Given the description of an element on the screen output the (x, y) to click on. 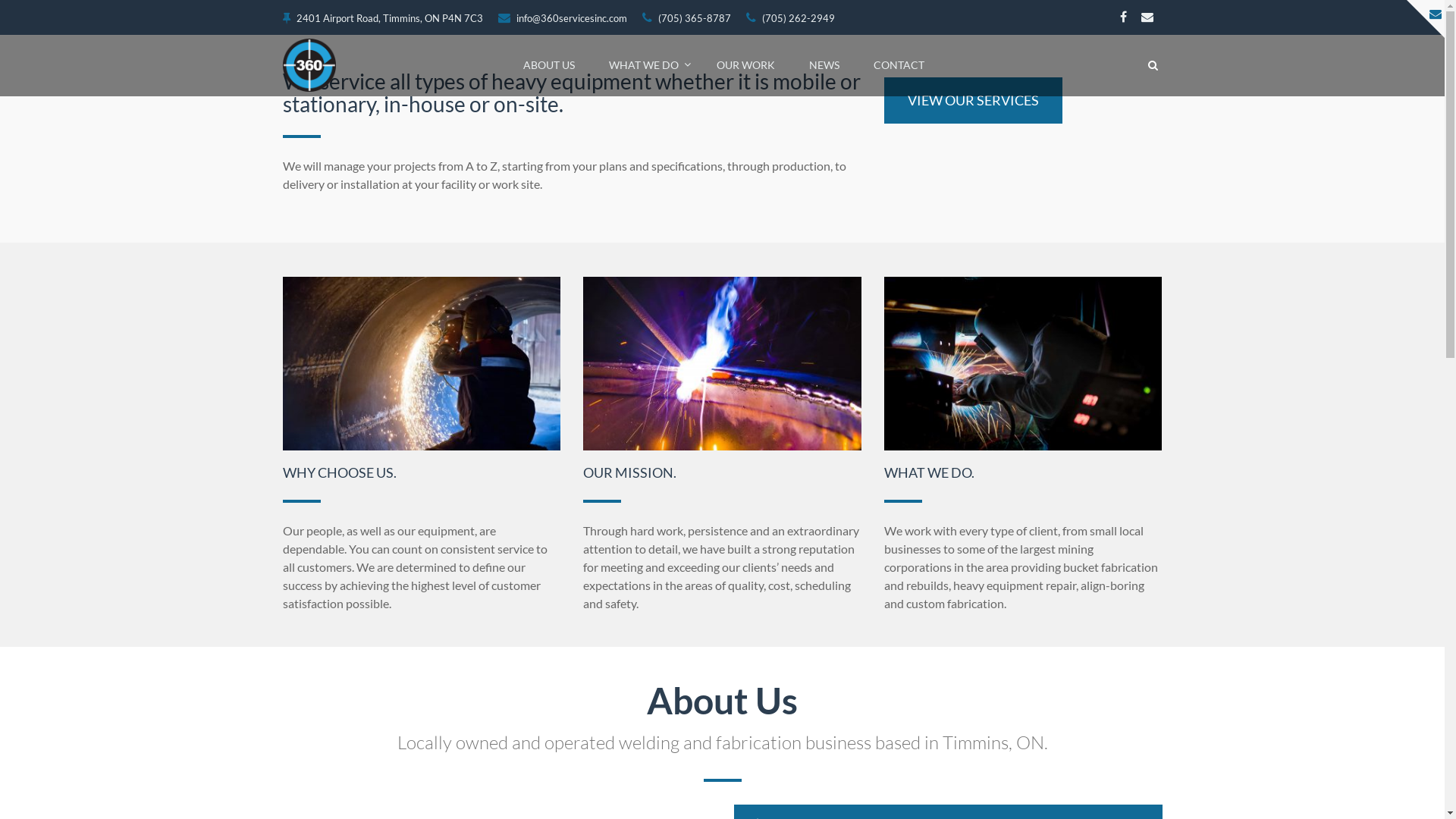
ABOUT US Element type: text (548, 64)
(705) 365-8787 Element type: text (685, 18)
WHAT WE DO Element type: text (645, 64)
Facebook Element type: hover (1122, 12)
OUR WORK Element type: text (745, 64)
CONTACT Element type: text (898, 64)
VIEW OUR SERVICES Element type: text (973, 100)
Email Element type: hover (1146, 12)
NEWS Element type: text (823, 64)
(705) 262-2949 Element type: text (790, 18)
